Given the description of an element on the screen output the (x, y) to click on. 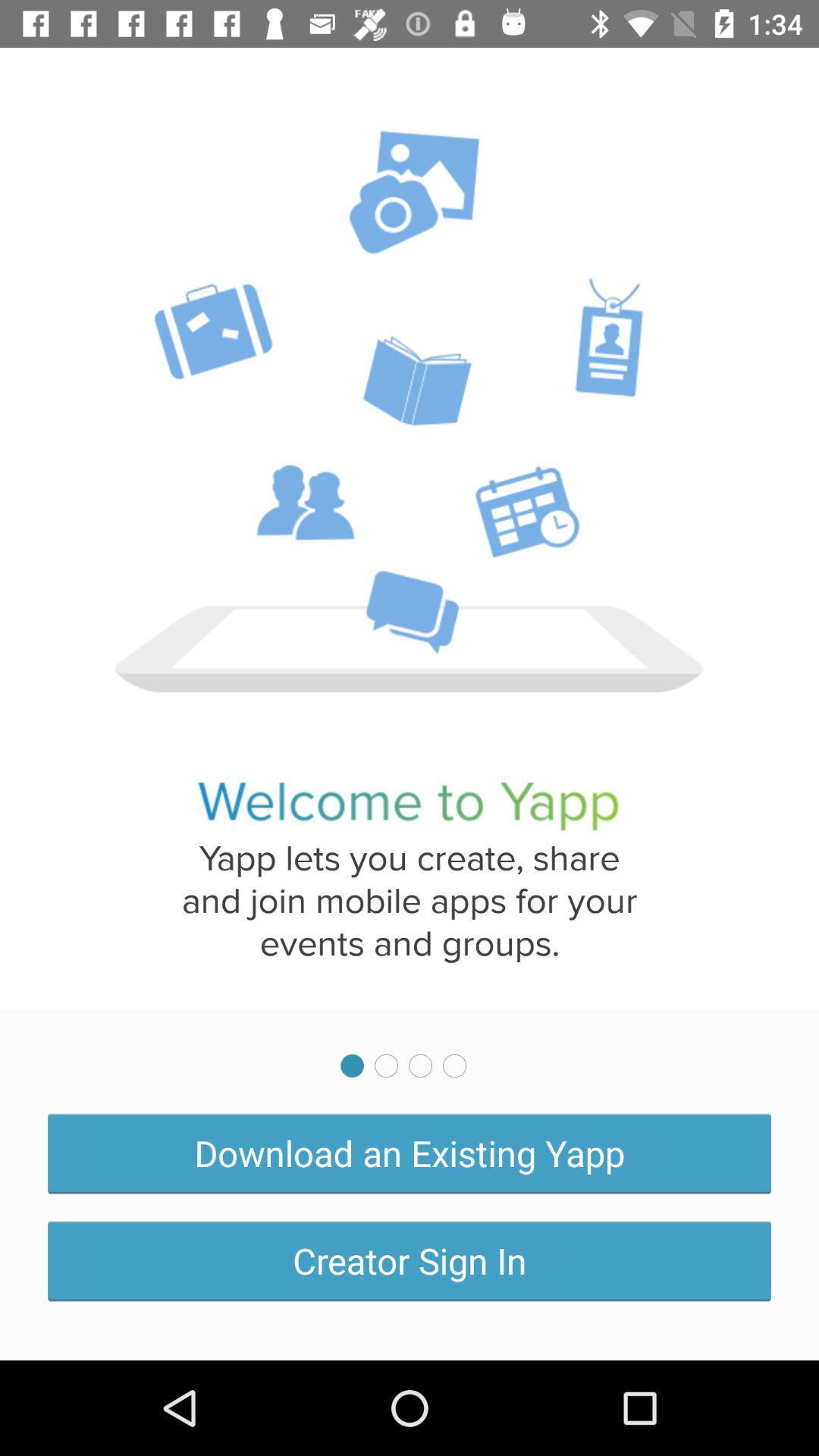
flip to creator sign in icon (409, 1260)
